Given the description of an element on the screen output the (x, y) to click on. 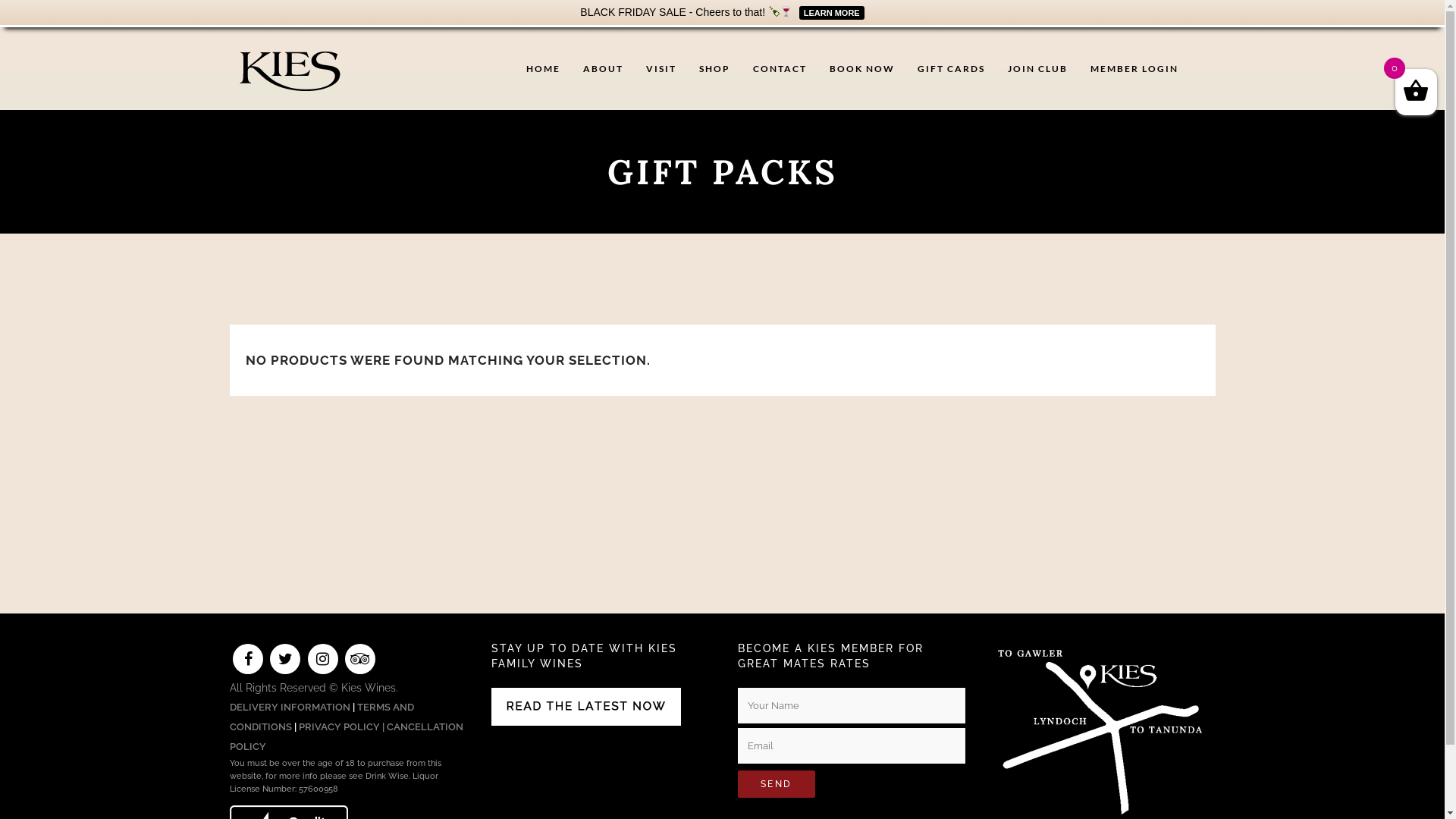
GIFT CARDS Element type: text (951, 68)
CANCELLATION POLICY Element type: text (345, 736)
MEMBER LOGIN Element type: text (1134, 68)
VISIT Element type: text (660, 68)
PRIVACY POLICY | Element type: text (342, 726)
HOME Element type: text (542, 68)
Send Element type: text (775, 783)
DELIVERY INFORMATION Element type: text (289, 706)
BOOK NOW Element type: text (862, 68)
SHOP Element type: text (714, 68)
LEARN MORE Element type: text (829, 12)
TERMS AND CONDITIONS Element type: text (321, 716)
ABOUT Element type: text (602, 68)
JOIN CLUB Element type: text (1036, 68)
CONTACT Element type: text (778, 68)
